Given the description of an element on the screen output the (x, y) to click on. 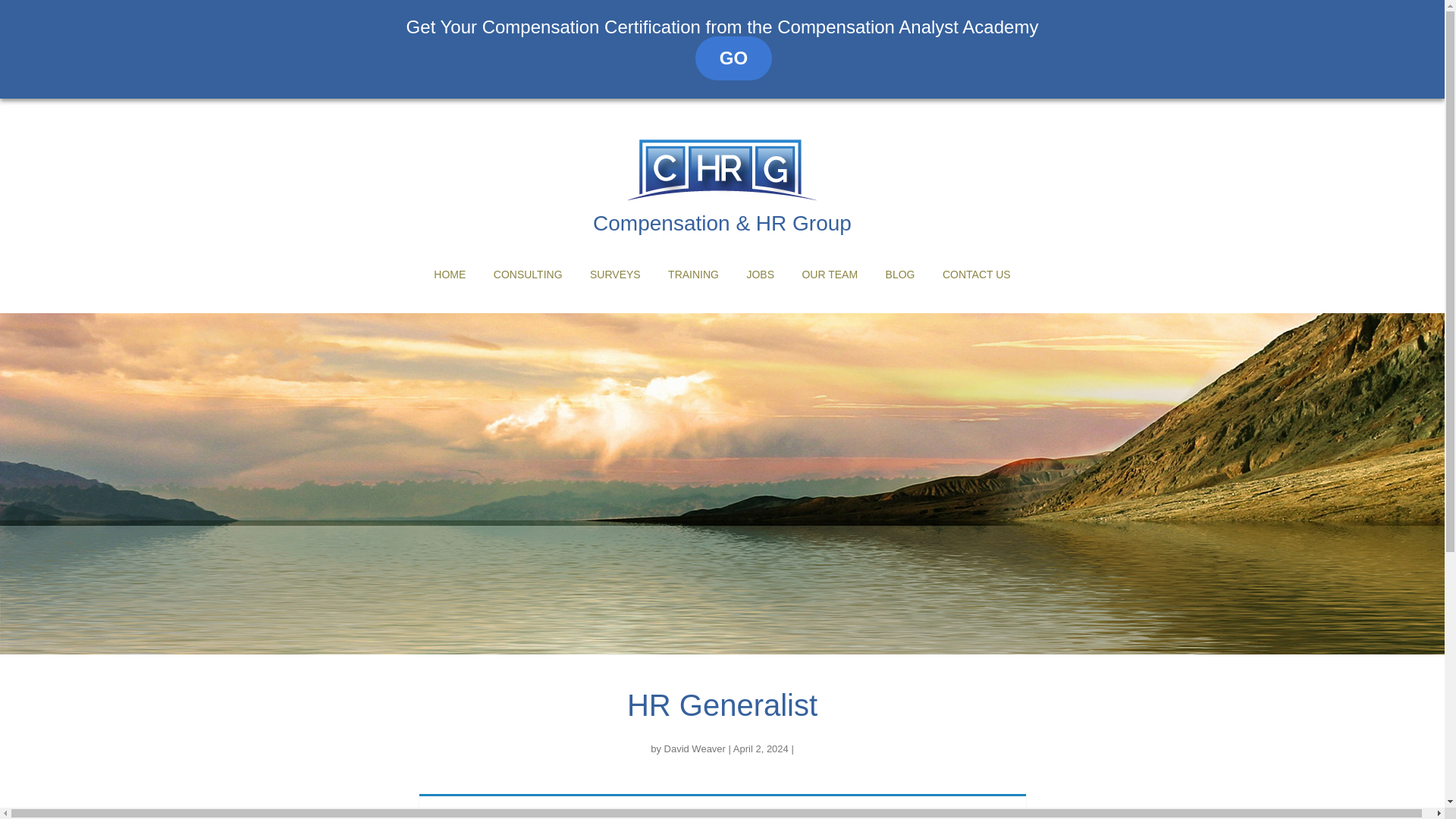
TRAINING (693, 274)
SURVEYS (614, 274)
CONTACT US (976, 274)
GO (721, 57)
View all posts by David Weaver (694, 748)
April 2, 2024 (761, 748)
OUR TEAM (829, 274)
3:57 pm (761, 748)
GO (733, 58)
David Weaver (694, 748)
POST A HUMAN RESOURCES JOB (758, 318)
CONSULTING (527, 274)
